Given the description of an element on the screen output the (x, y) to click on. 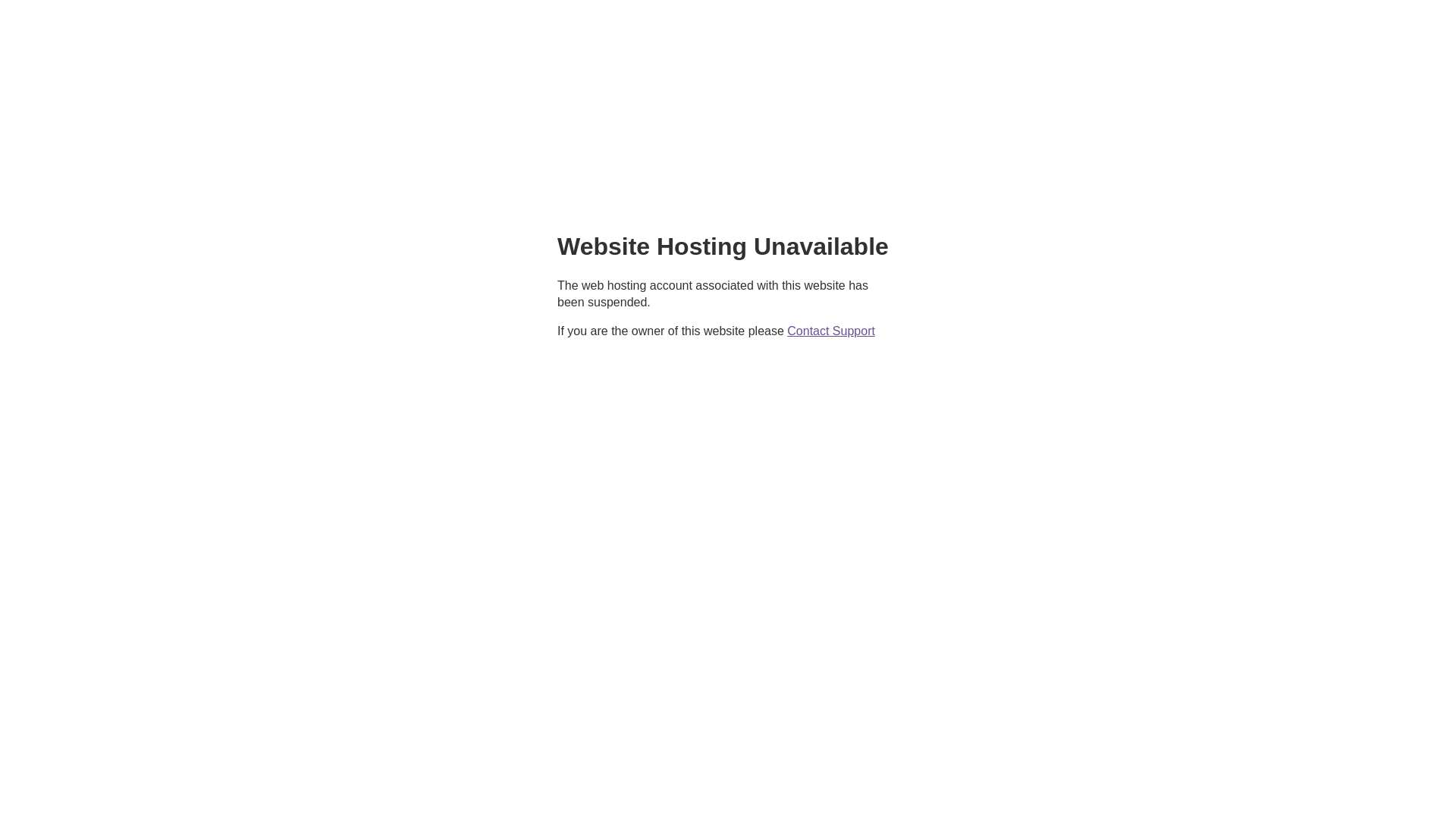
Contact Support Element type: text (831, 330)
